Given the description of an element on the screen output the (x, y) to click on. 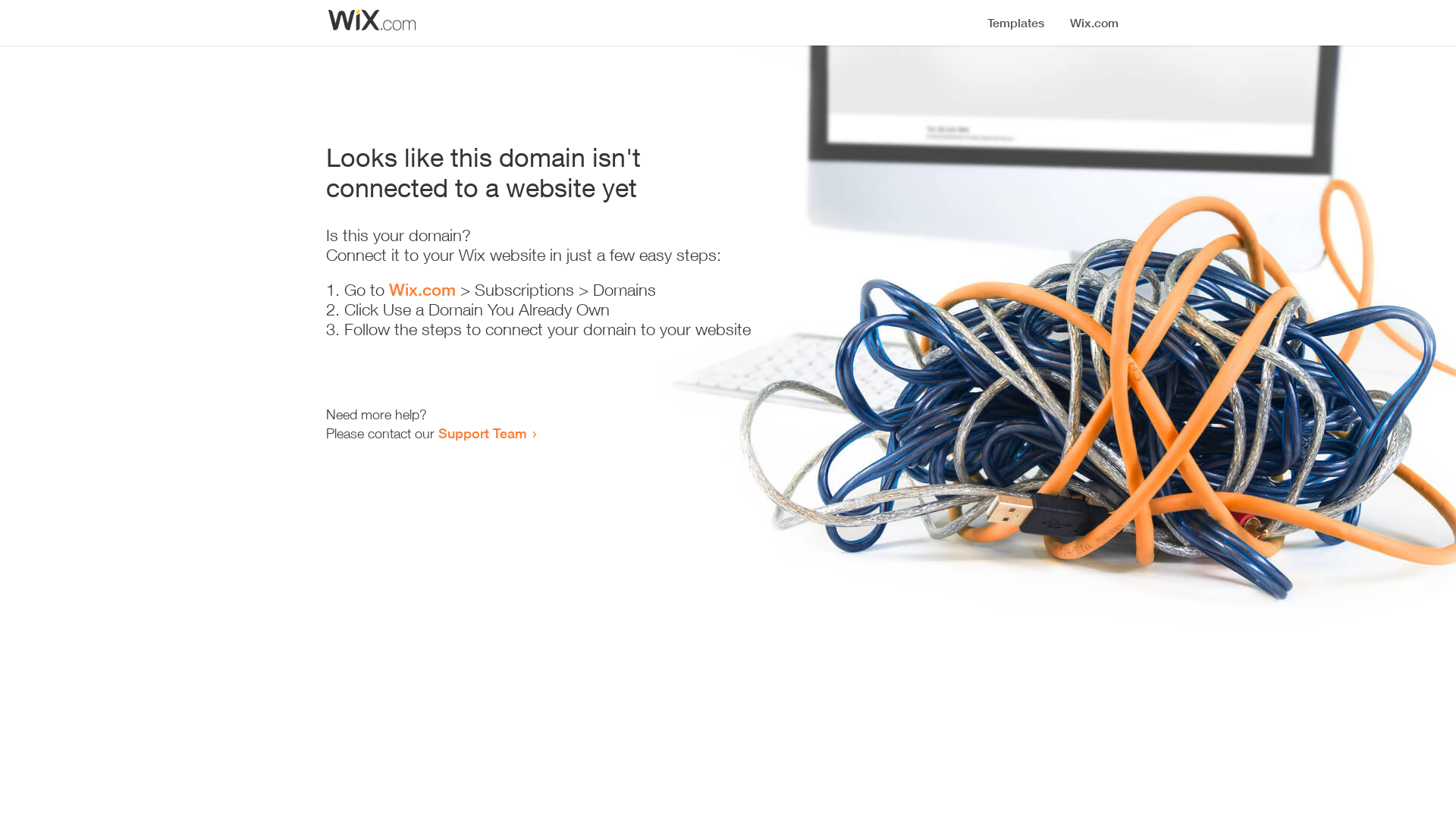
Wix.com Element type: text (422, 289)
Support Team Element type: text (482, 432)
